Given the description of an element on the screen output the (x, y) to click on. 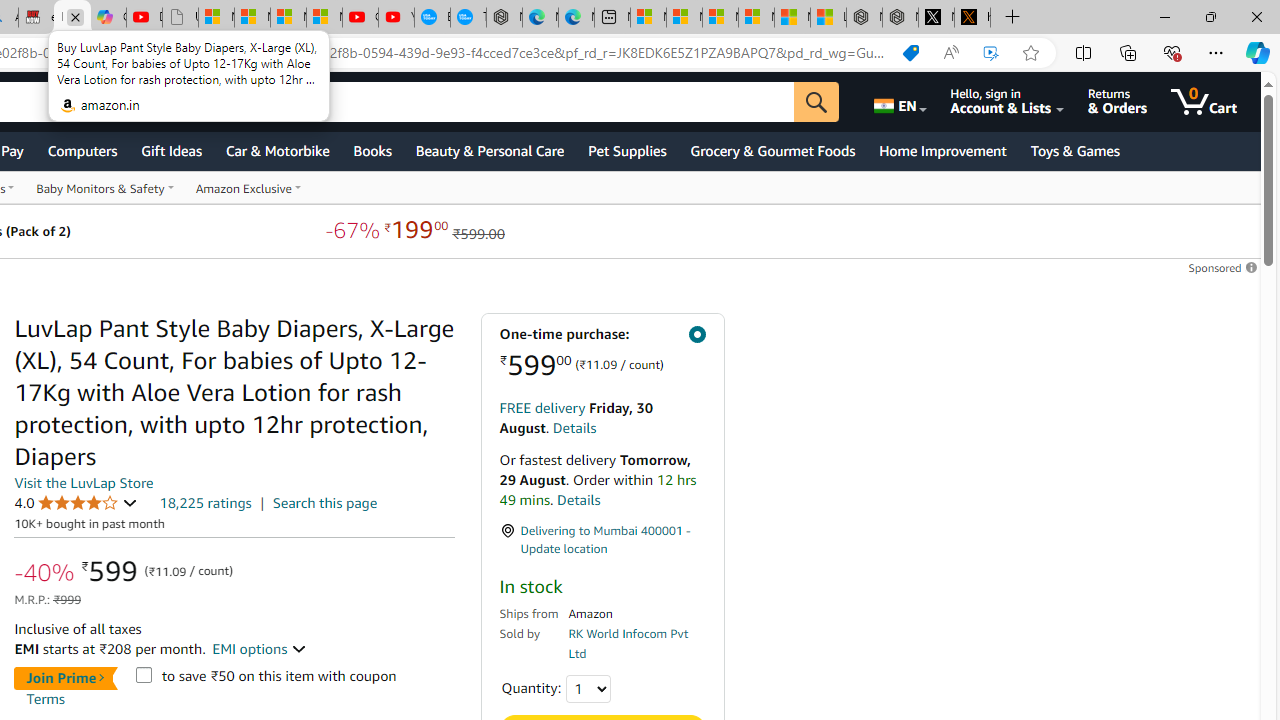
help.x.com | 524: A timeout occurred (971, 17)
